Given the description of an element on the screen output the (x, y) to click on. 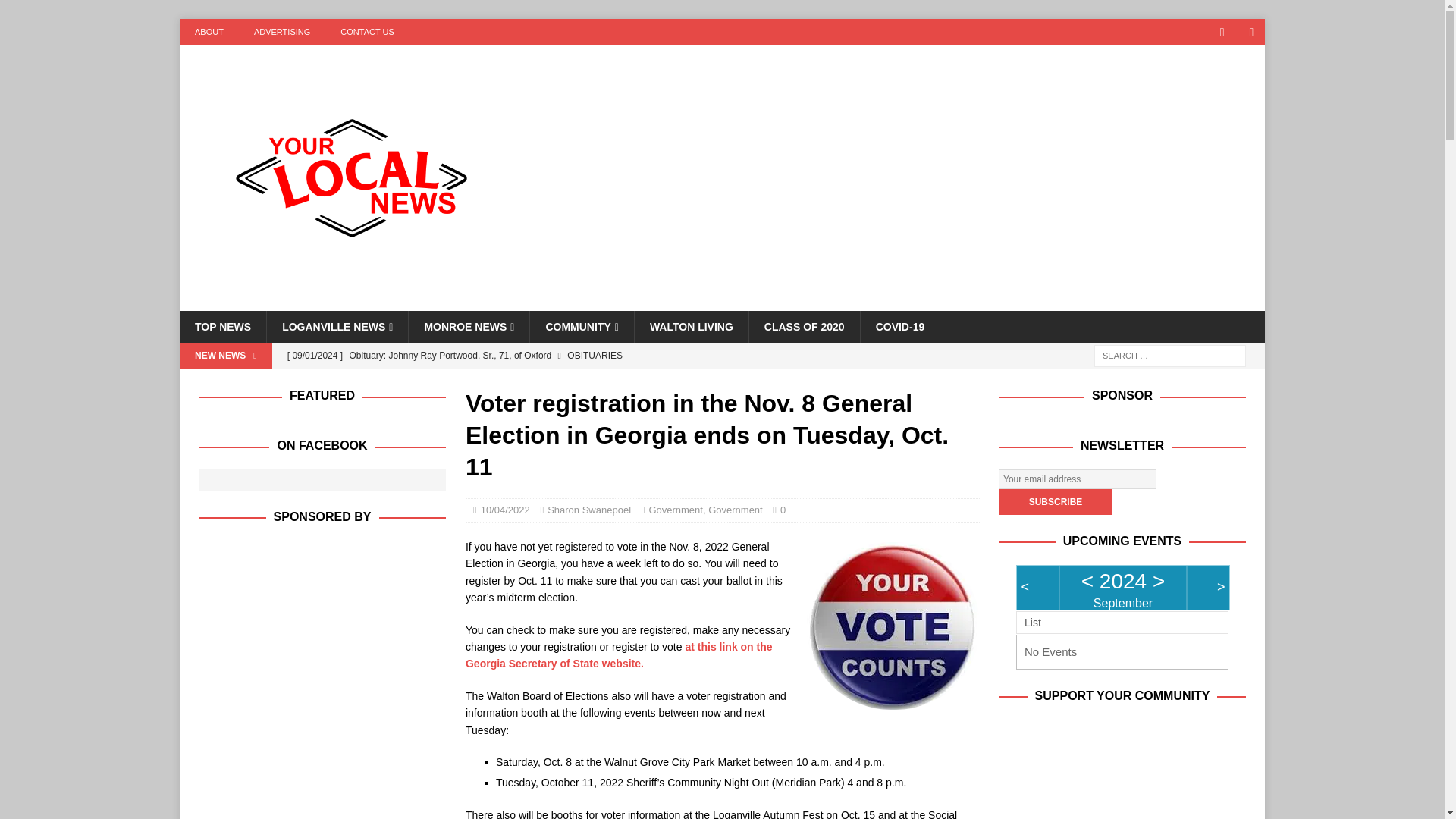
TOP NEWS (222, 327)
Obituary: Johnny Ray Portwood, Sr., 71, of Oxford (582, 355)
ABOUT (208, 31)
WALTON LIVING (690, 327)
CLASS OF 2020 (804, 327)
COMMUNITY (581, 327)
Sharon Swanepoel (588, 509)
Government (675, 509)
COVID-19 (900, 327)
